Given the description of an element on the screen output the (x, y) to click on. 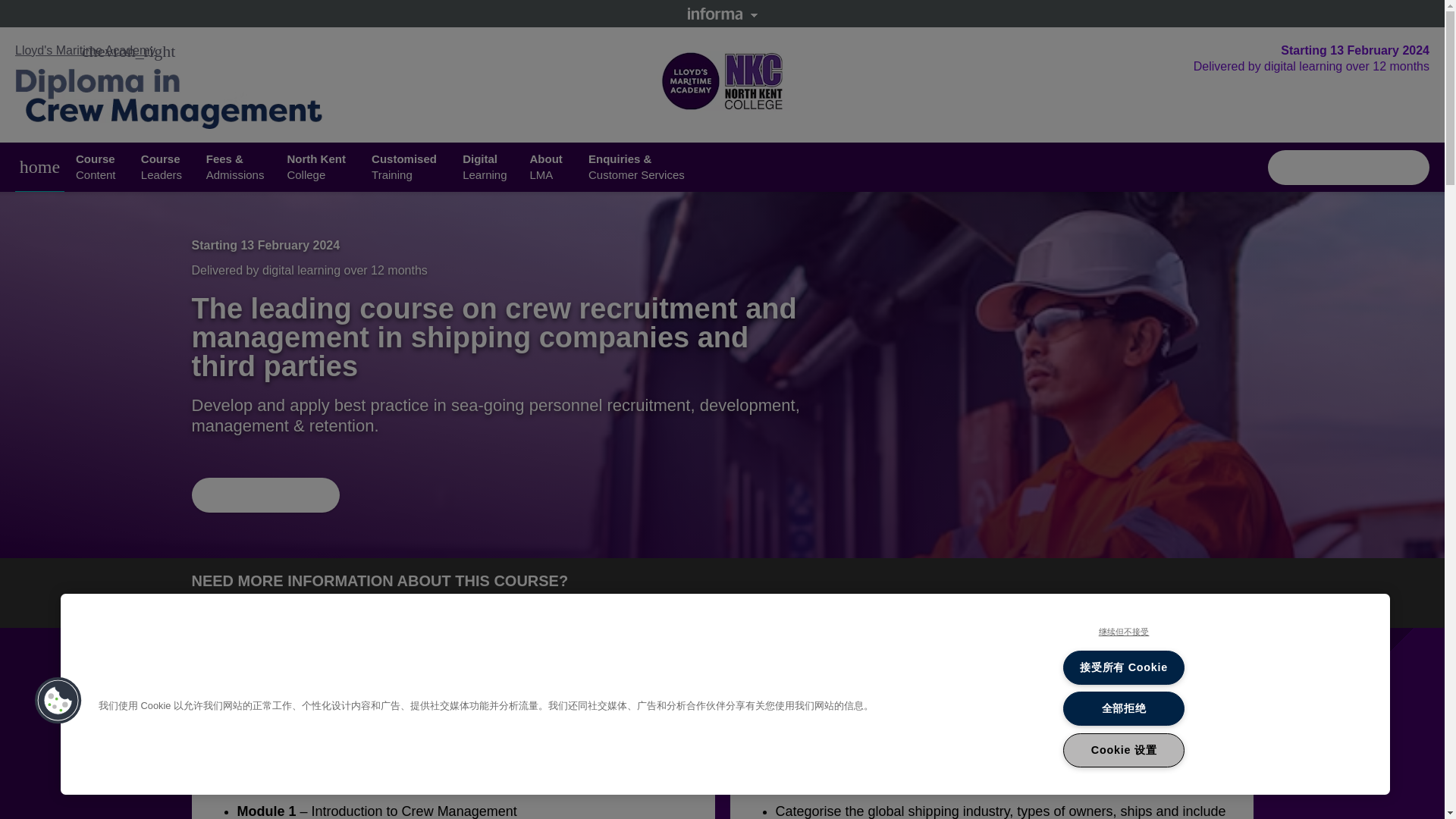
home (39, 166)
Apply now (162, 166)
Cookies Button (548, 166)
Book Now (264, 494)
Lloyd's Maritime Academy (57, 700)
Email us (1348, 167)
